Given the description of an element on the screen output the (x, y) to click on. 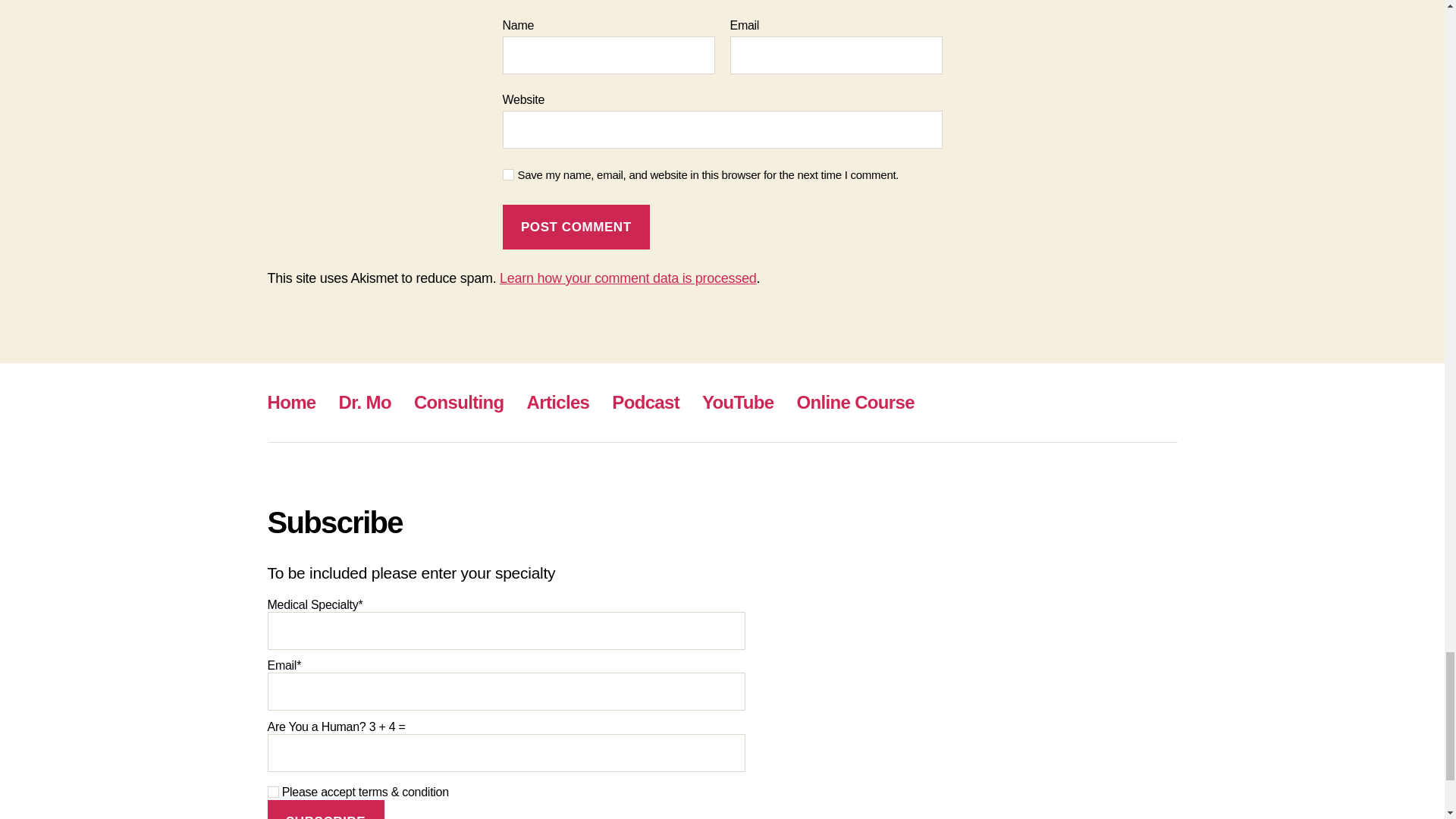
true (272, 791)
yes (507, 173)
Subscribe (325, 809)
A little about me and my timeline. (365, 402)
Post Comment (575, 226)
